Given the description of an element on the screen output the (x, y) to click on. 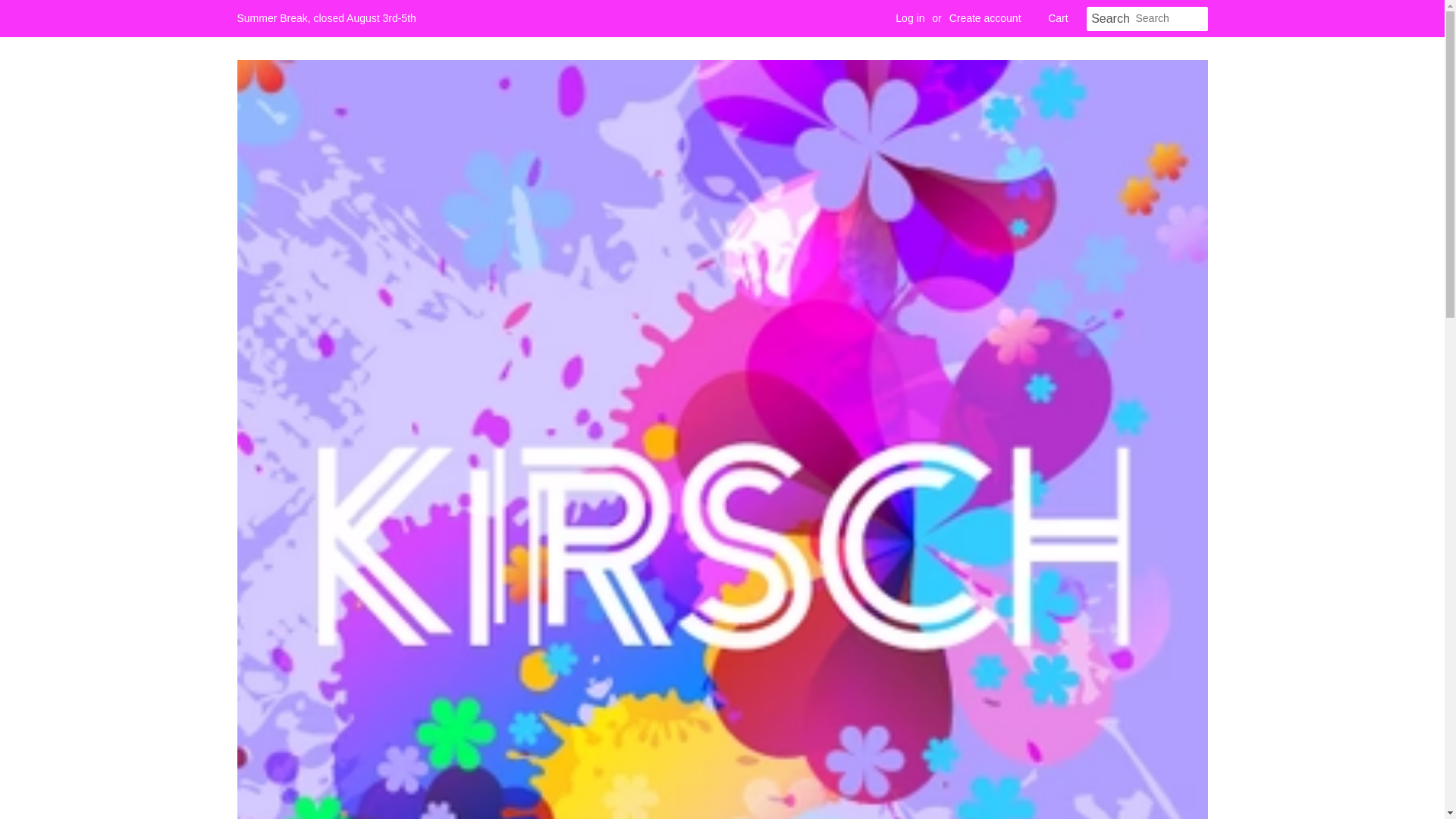
Summer Break, closed August 3rd-5th (324, 18)
Create account (985, 18)
Cart (1057, 18)
Search (1110, 18)
Log in (909, 18)
